Given the description of an element on the screen output the (x, y) to click on. 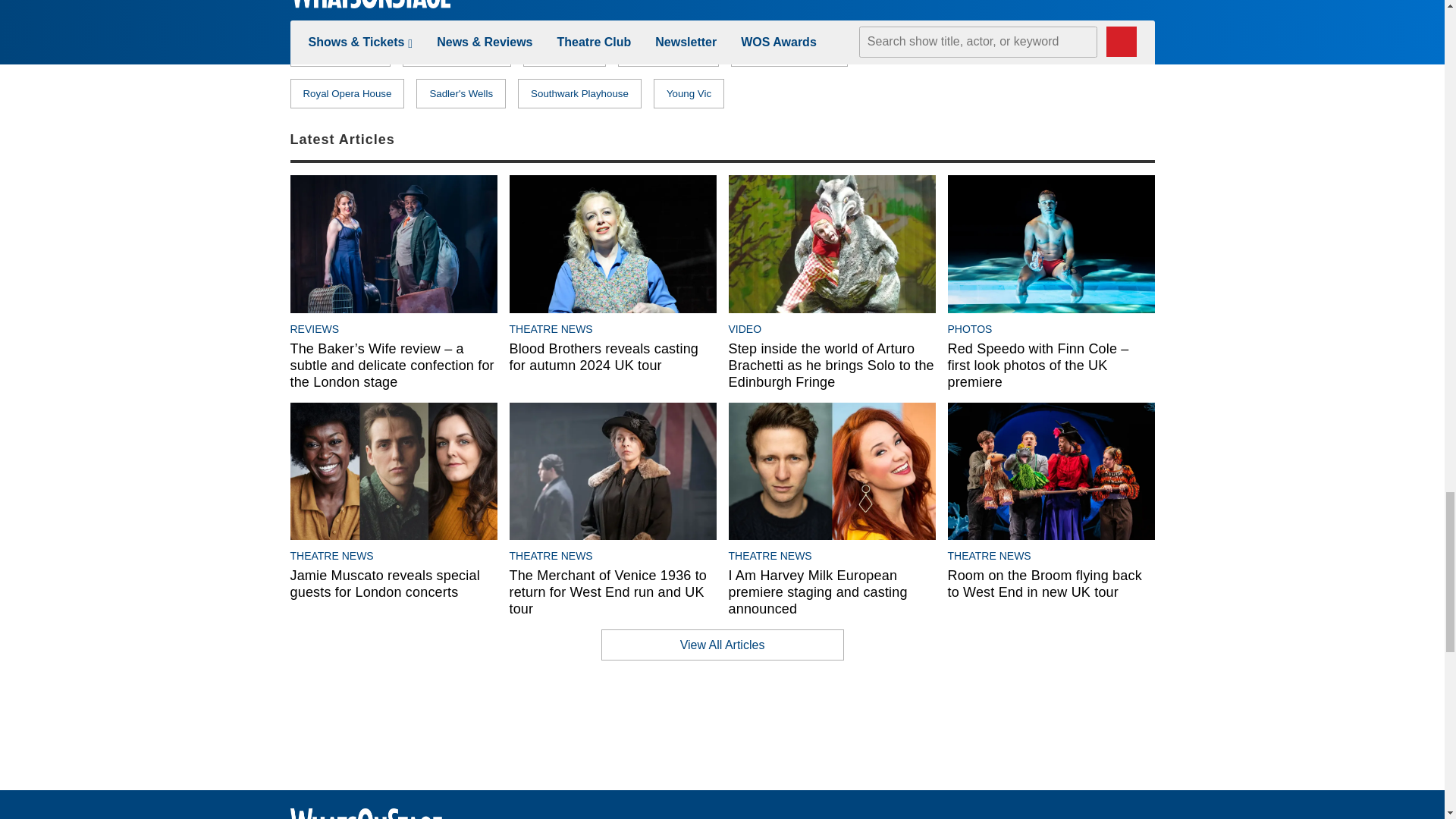
3rd party ad content (1040, 42)
3rd party ad content (721, 725)
